Given the description of an element on the screen output the (x, y) to click on. 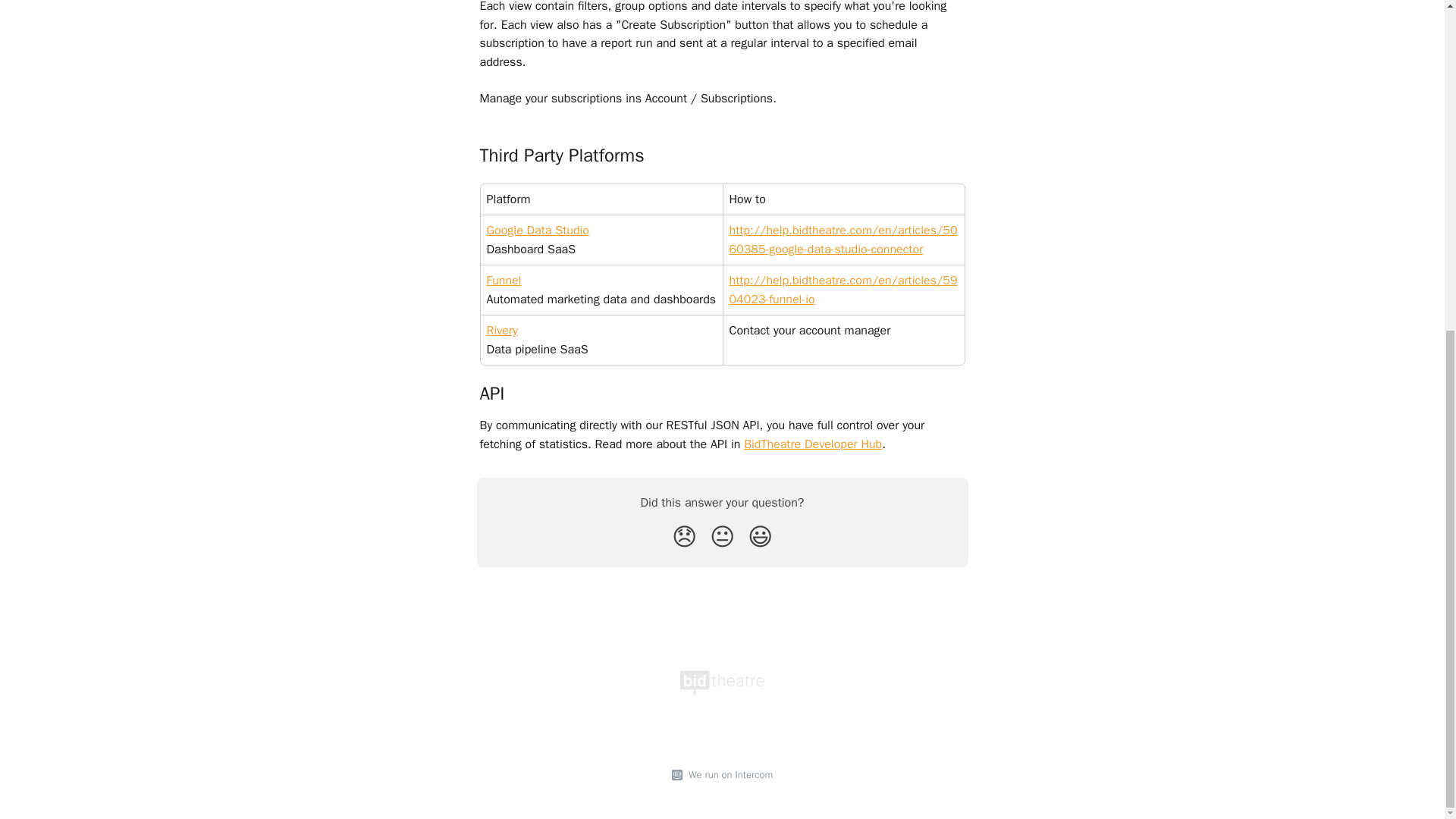
Smiley (760, 536)
Neutral (722, 536)
We run on Intercom (727, 774)
Google Data Studio (537, 230)
Funnel (503, 280)
Disappointed (684, 536)
BidTheatre Developer Hub (813, 444)
Rivery (502, 330)
